Given the description of an element on the screen output the (x, y) to click on. 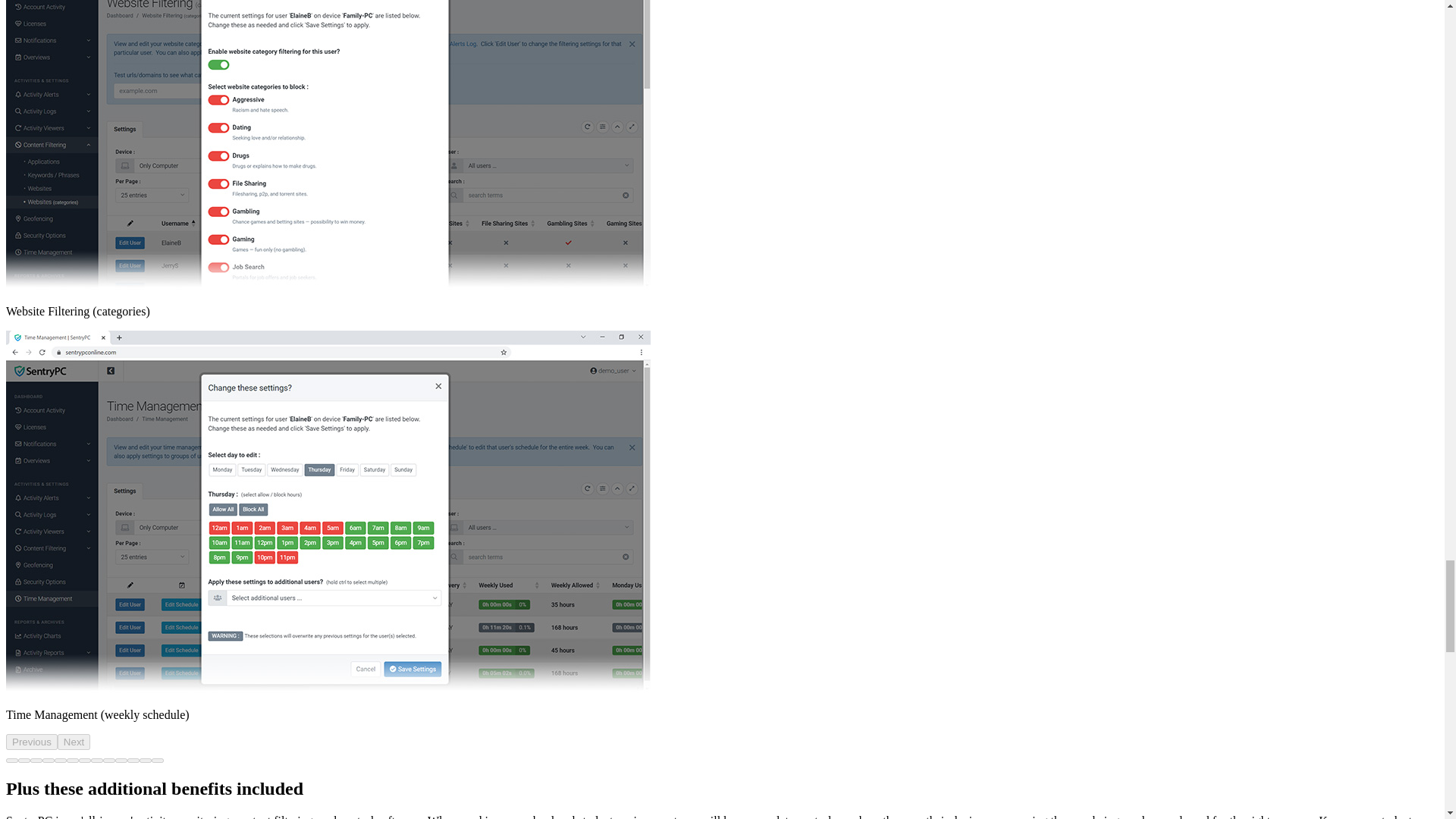
Previous (31, 741)
Next (74, 741)
